Given the description of an element on the screen output the (x, y) to click on. 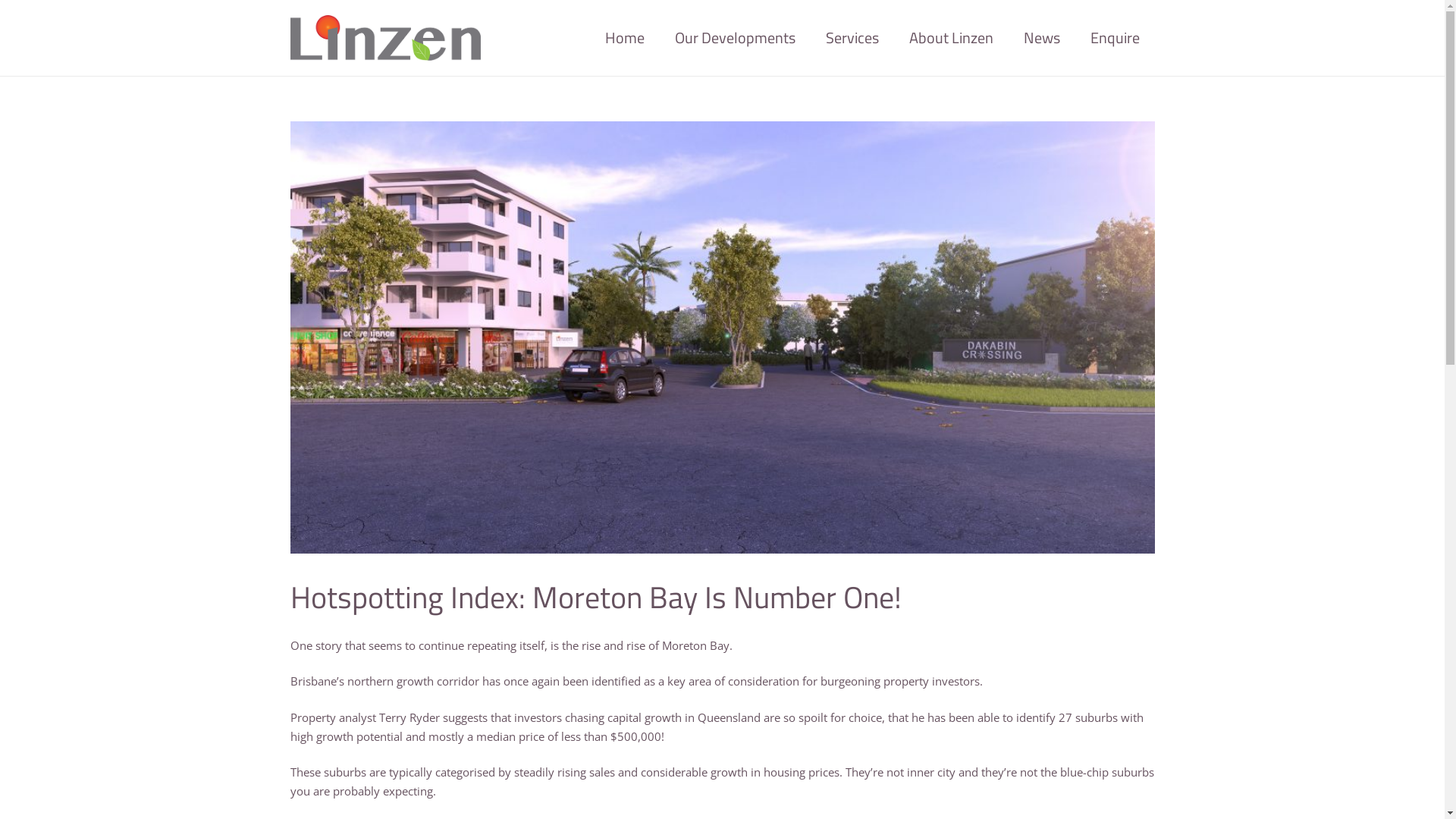
Home Element type: text (624, 37)
About Linzen Element type: text (951, 37)
Our Developments Element type: text (734, 37)
Enquire Element type: text (1114, 37)
News Element type: text (1041, 37)
Services Element type: text (852, 37)
